Given the description of an element on the screen output the (x, y) to click on. 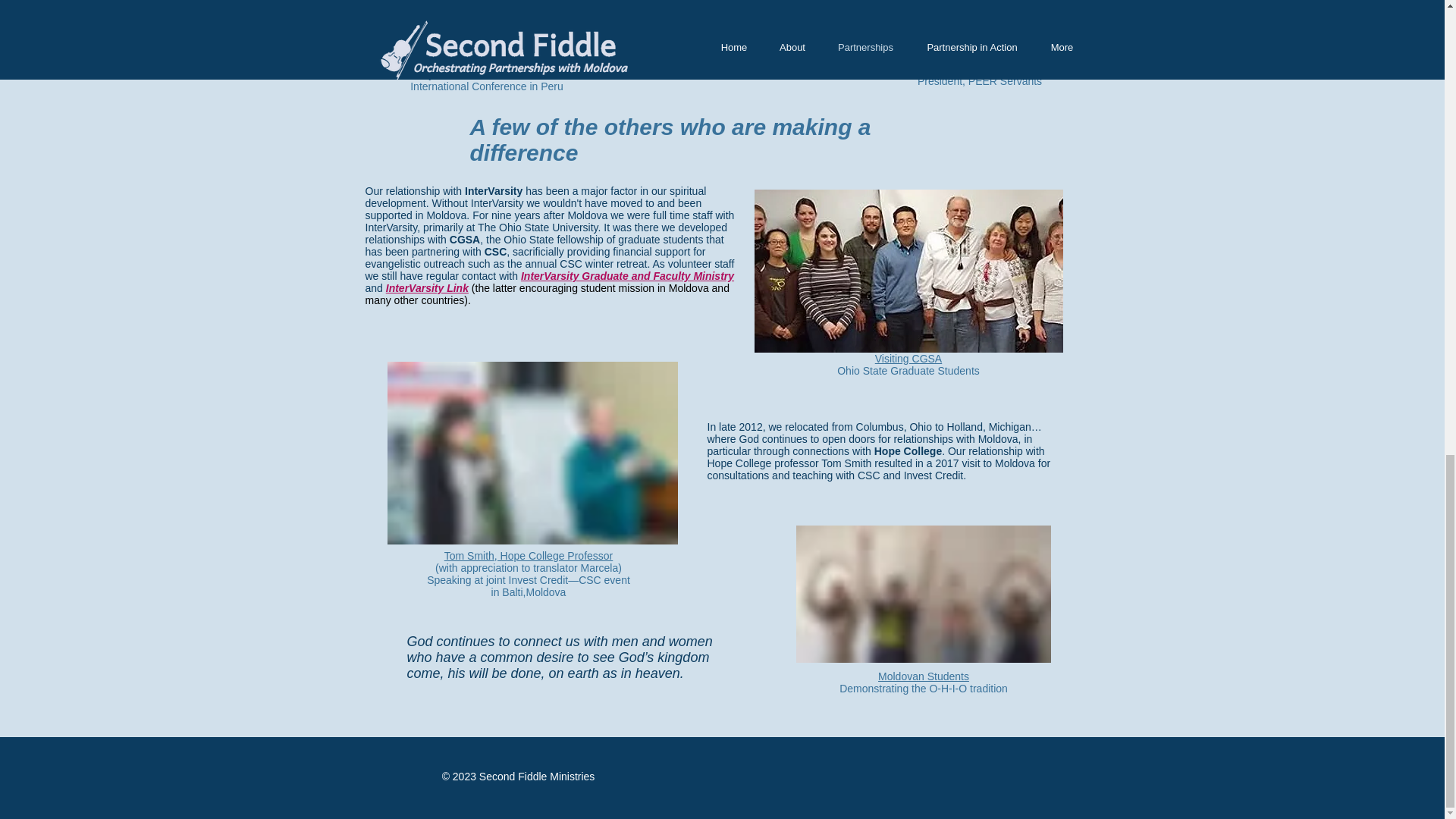
InterVarsity Graduate and Faculty Ministry (627, 275)
InterVarsity Link (426, 287)
